Given the description of an element on the screen output the (x, y) to click on. 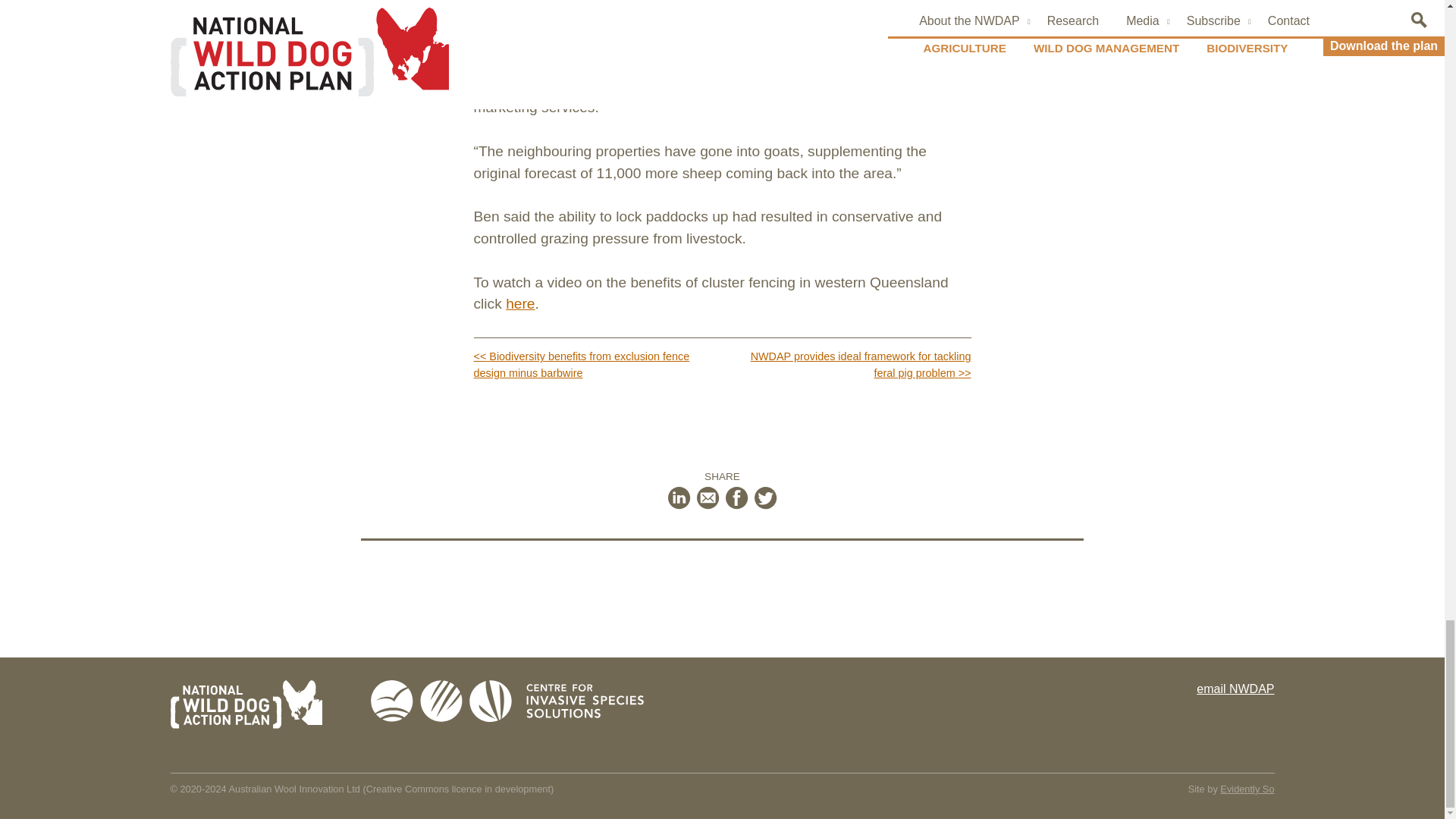
here (519, 303)
email NWDAP (1235, 688)
